Given the description of an element on the screen output the (x, y) to click on. 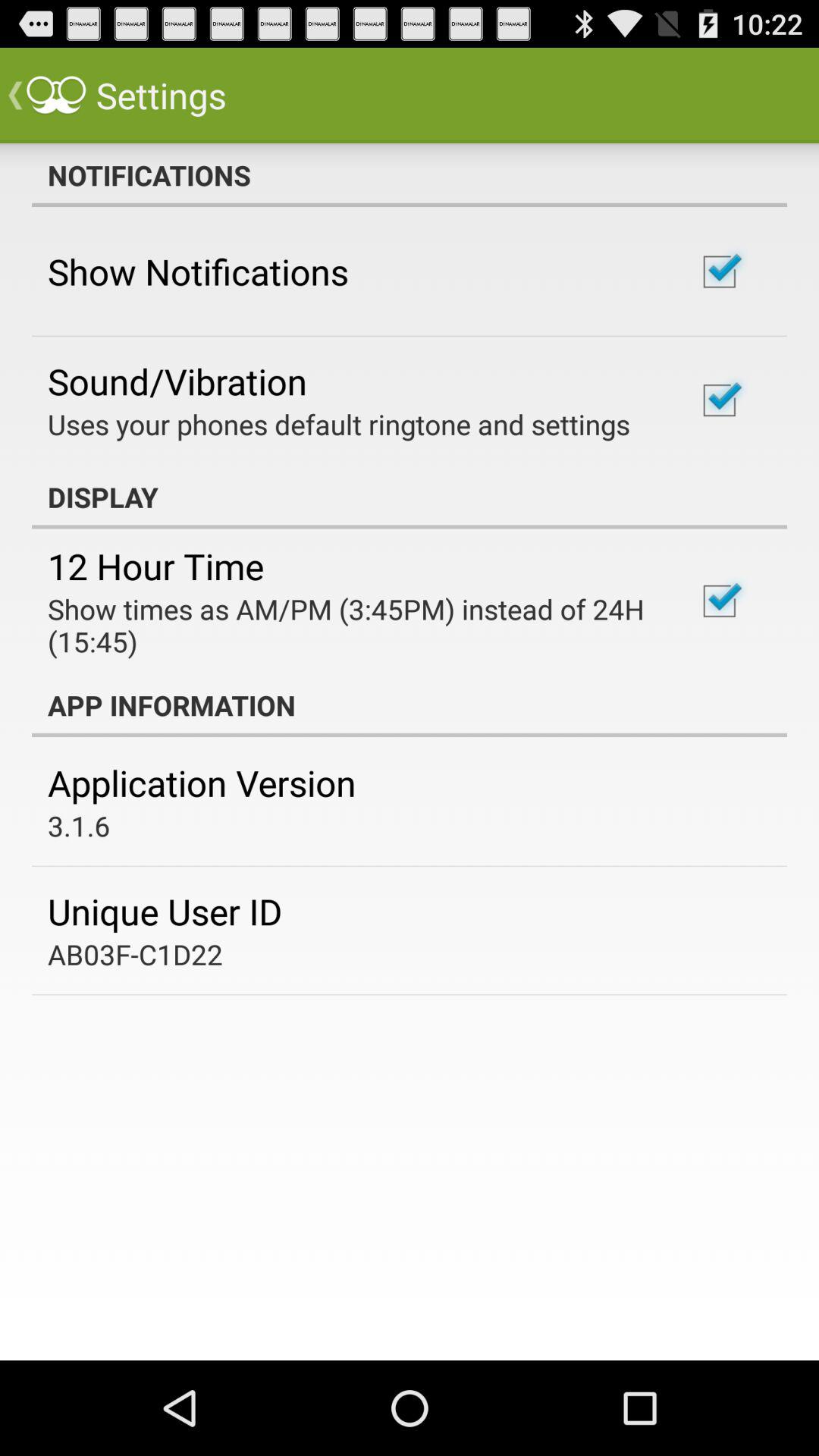
tap item below uses your phones item (409, 496)
